Given the description of an element on the screen output the (x, y) to click on. 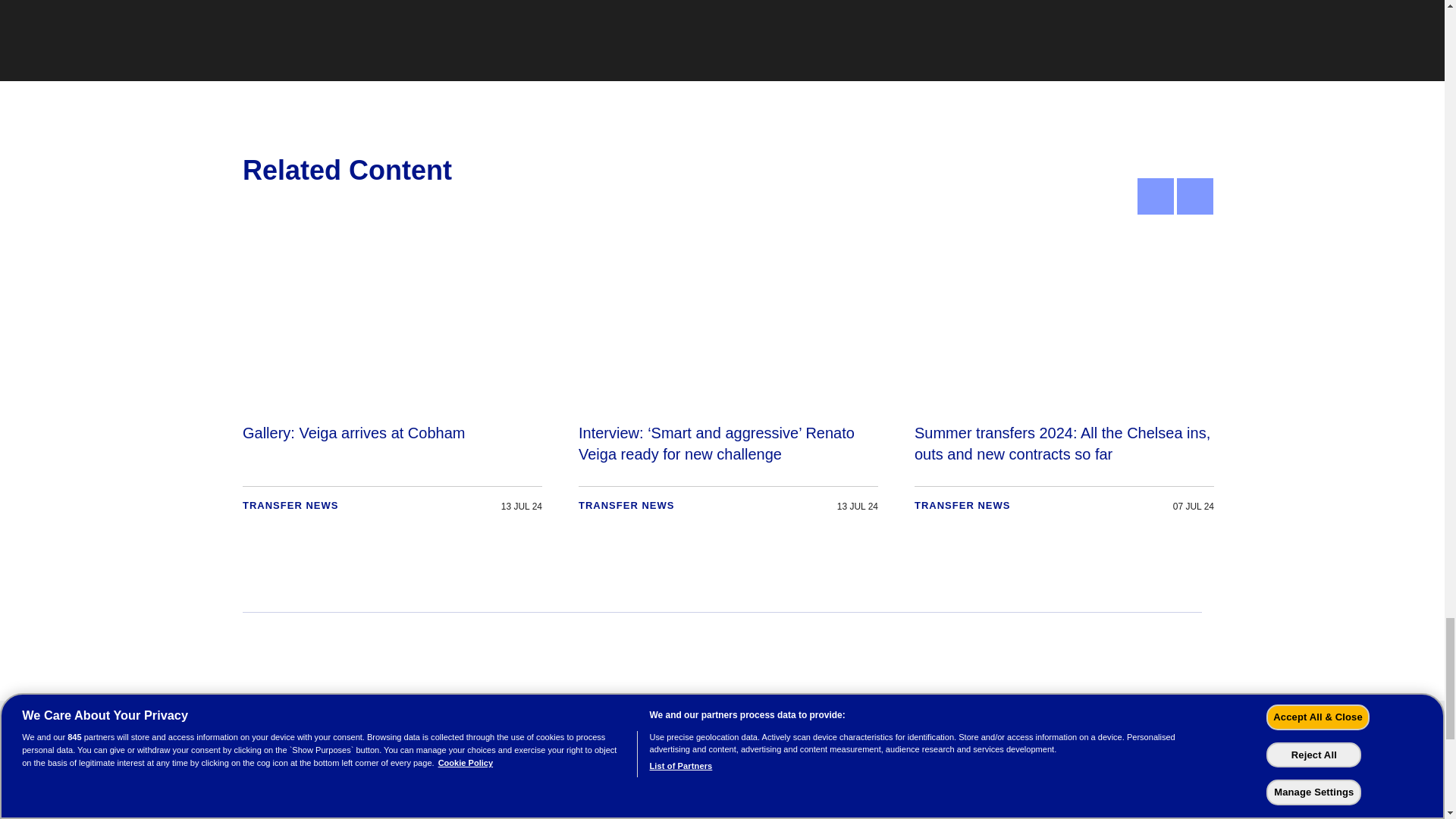
Gallery: Veiga arrives at Cobham (392, 378)
